Given the description of an element on the screen output the (x, y) to click on. 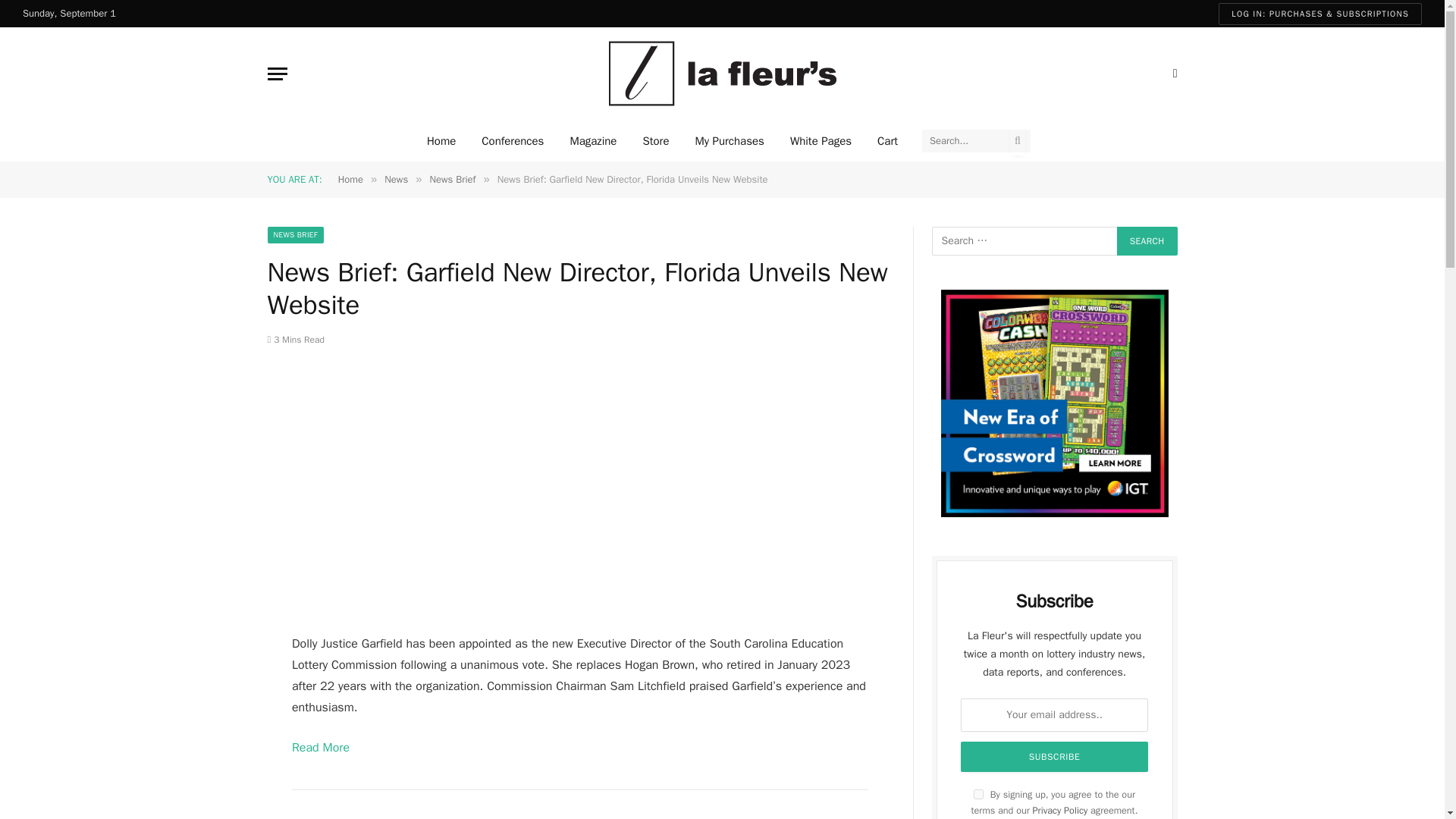
Subscribe (1053, 757)
Subscribe (1053, 757)
White Pages (820, 140)
News (395, 178)
News Brief (452, 178)
Conferences (512, 140)
Magazine (592, 140)
on (979, 794)
NEWS BRIEF (294, 234)
Home (440, 140)
